Given the description of an element on the screen output the (x, y) to click on. 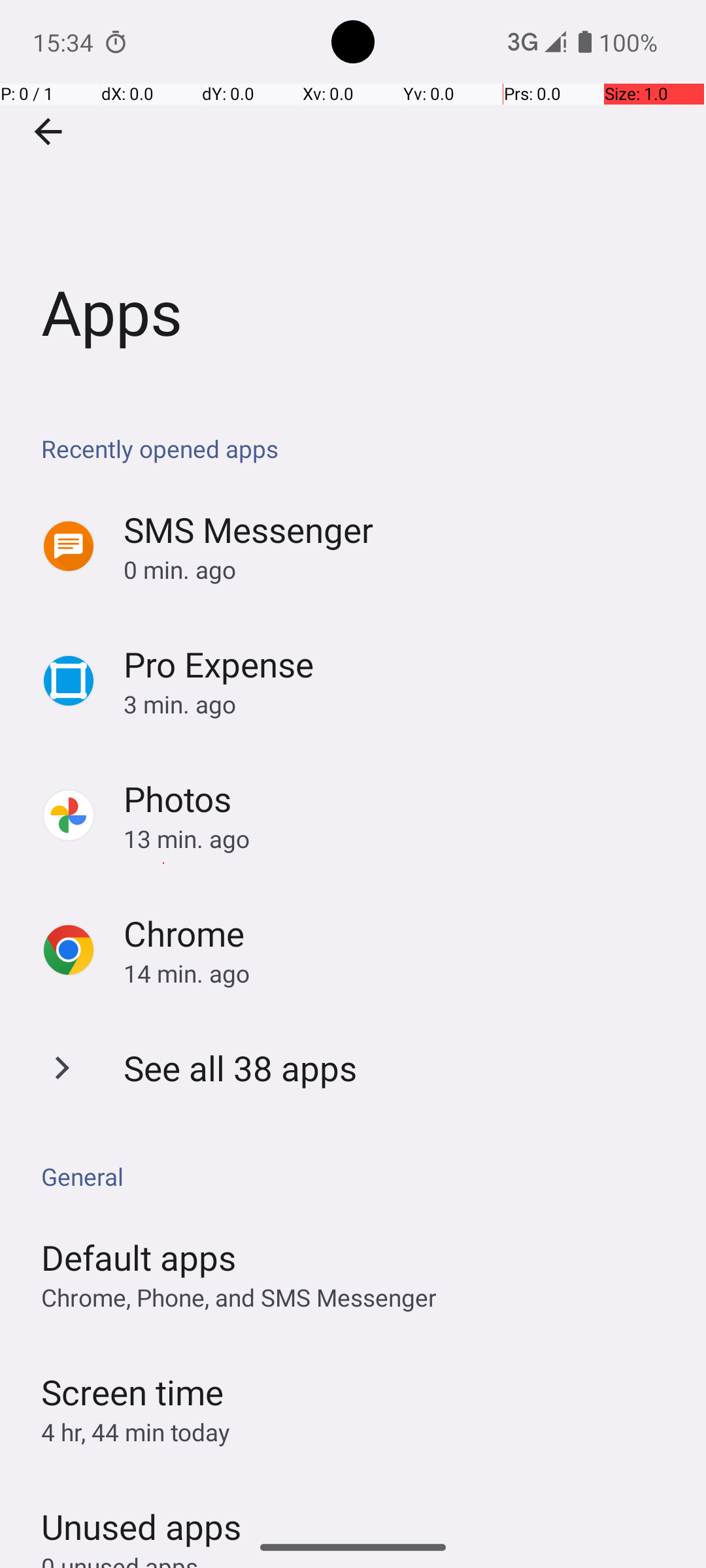
13 min. ago Element type: android.widget.TextView (400, 838)
14 min. ago Element type: android.widget.TextView (400, 972)
See all 38 apps Element type: android.widget.TextView (239, 1067)
4 hr, 44 min today Element type: android.widget.TextView (135, 1431)
